Given the description of an element on the screen output the (x, y) to click on. 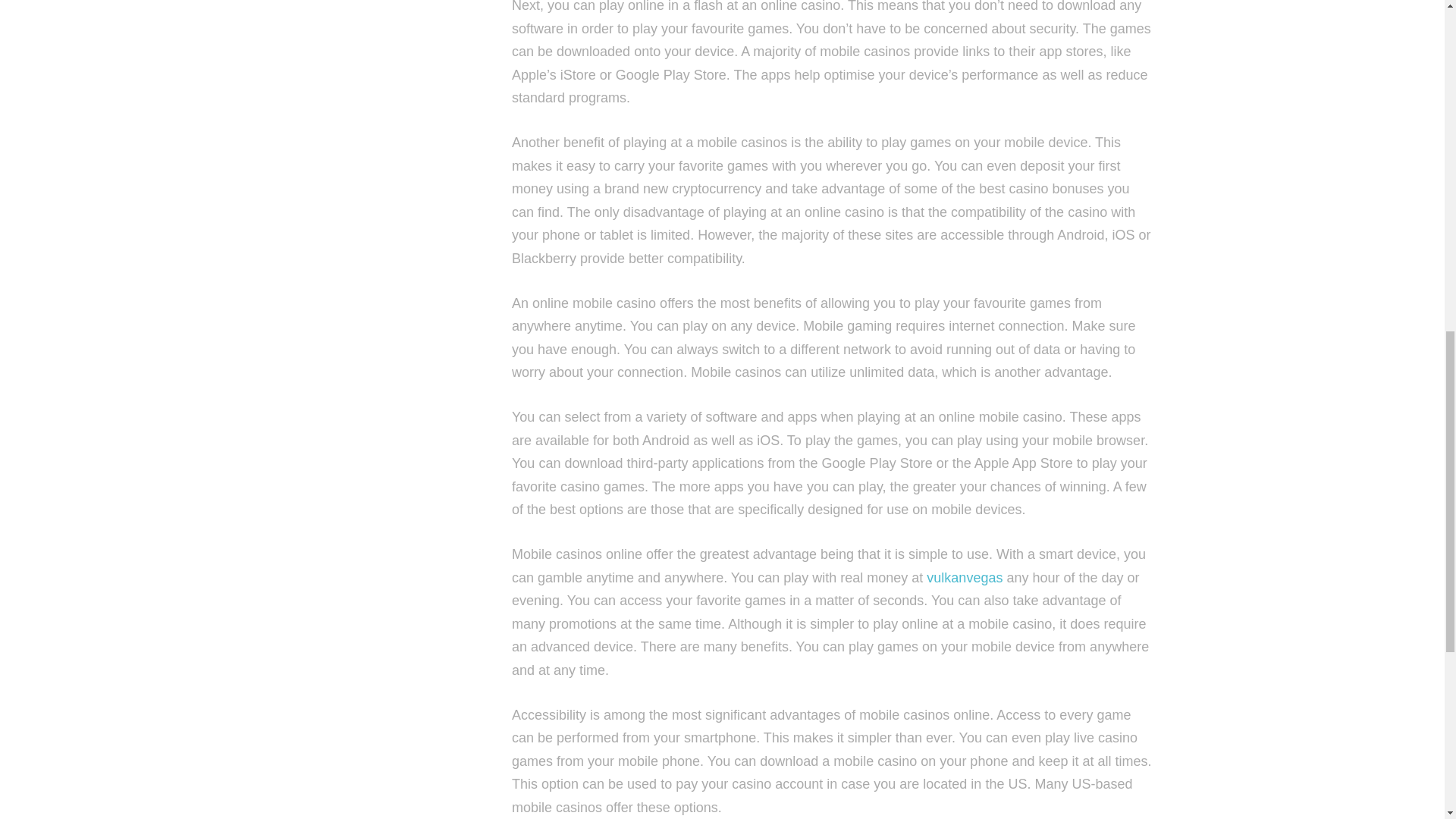
vulkanvegas (964, 577)
